Given the description of an element on the screen output the (x, y) to click on. 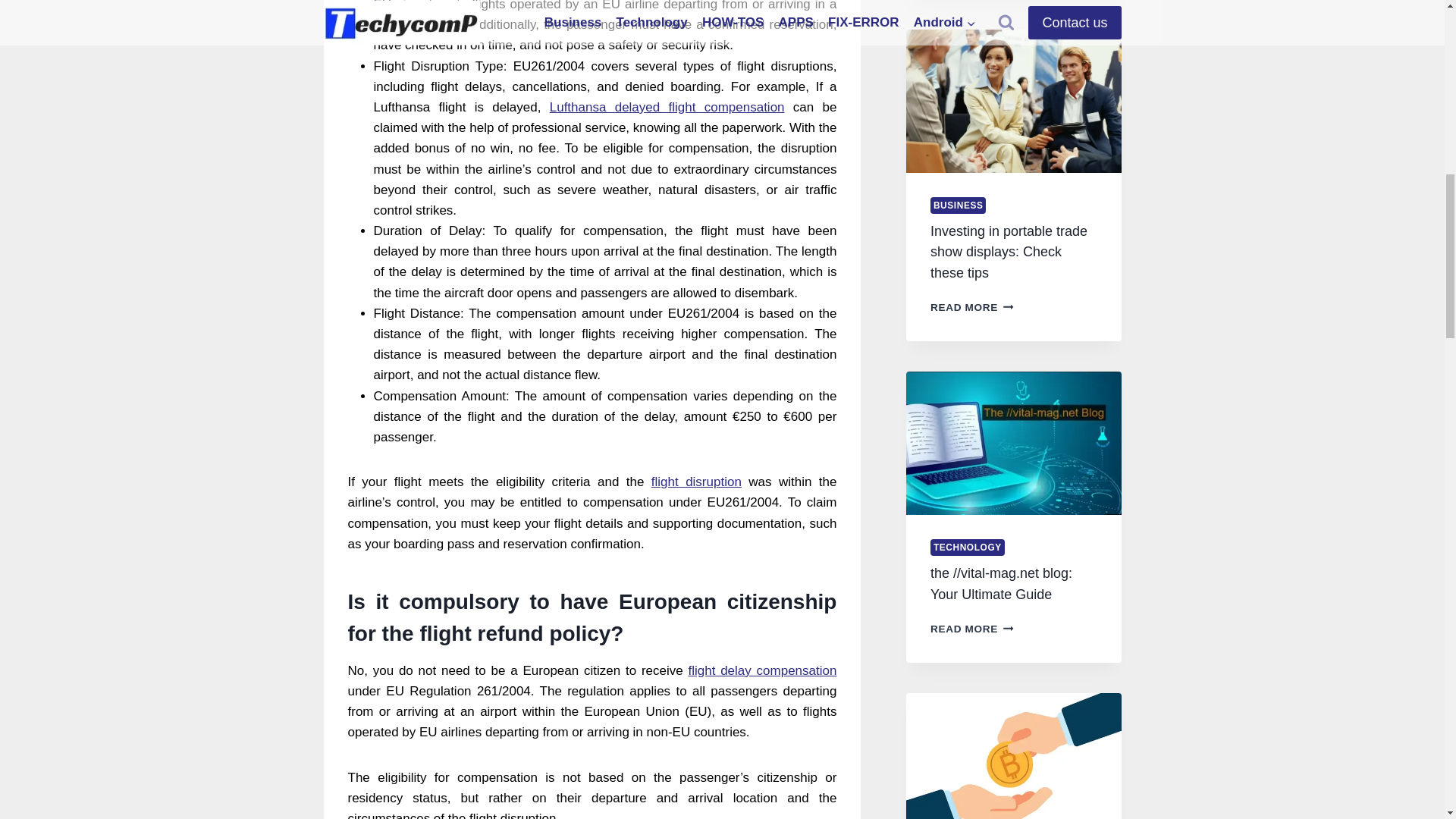
Lufthansa delayed flight compensation (667, 106)
flight delay compensation (761, 670)
flight disruption (695, 481)
